Given the description of an element on the screen output the (x, y) to click on. 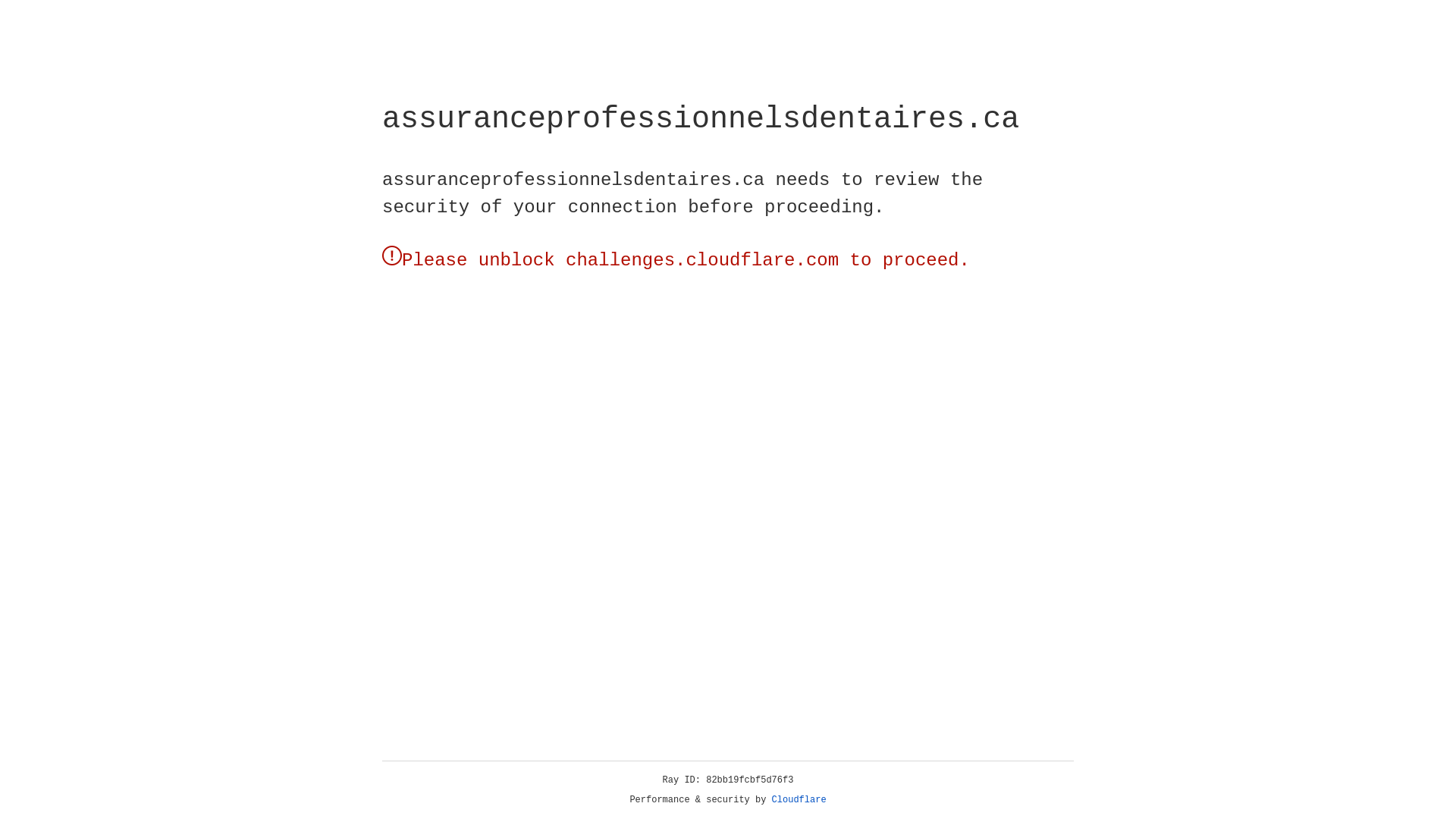
Cloudflare Element type: text (798, 799)
